Given the description of an element on the screen output the (x, y) to click on. 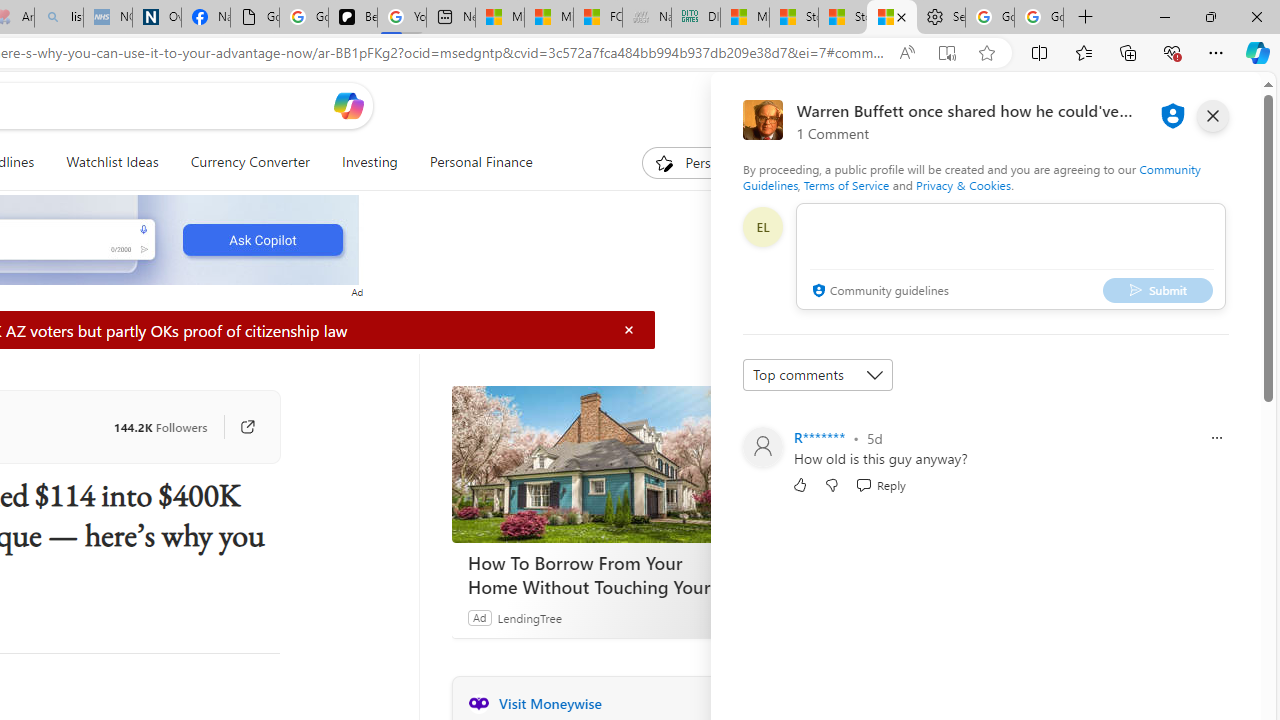
Currency Converter (249, 162)
How To Borrow From Your Home Without Touching Your Mortgage (601, 463)
Community Guidelines (971, 176)
Personal Finance (480, 162)
Navy Quest (646, 17)
Google Analytics Opt-out Browser Add-on Download Page (254, 17)
Profile Picture (762, 446)
Hide (629, 329)
Report comment (1216, 437)
FOX News - MSN (597, 17)
How To Borrow From Your Home Without Touching Your Mortgage (601, 574)
